Given the description of an element on the screen output the (x, y) to click on. 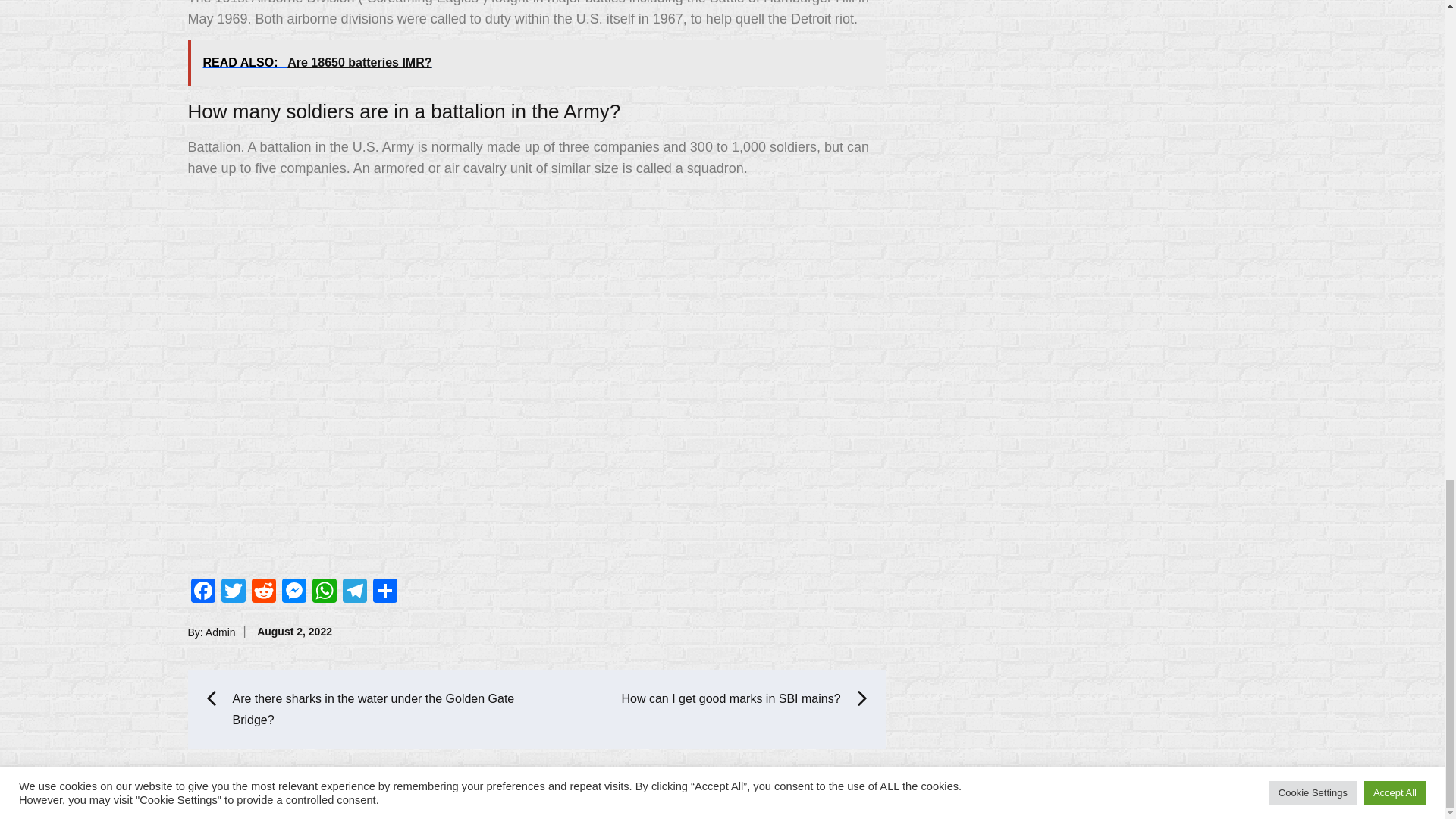
Telegram (354, 592)
Messenger (293, 592)
Admin (220, 631)
Facebook (202, 592)
Facebook (202, 592)
READ ALSO:   Are 18650 batteries IMR? (536, 62)
WhatsApp (323, 592)
WhatsApp (323, 592)
Twitter (233, 592)
